Given the description of an element on the screen output the (x, y) to click on. 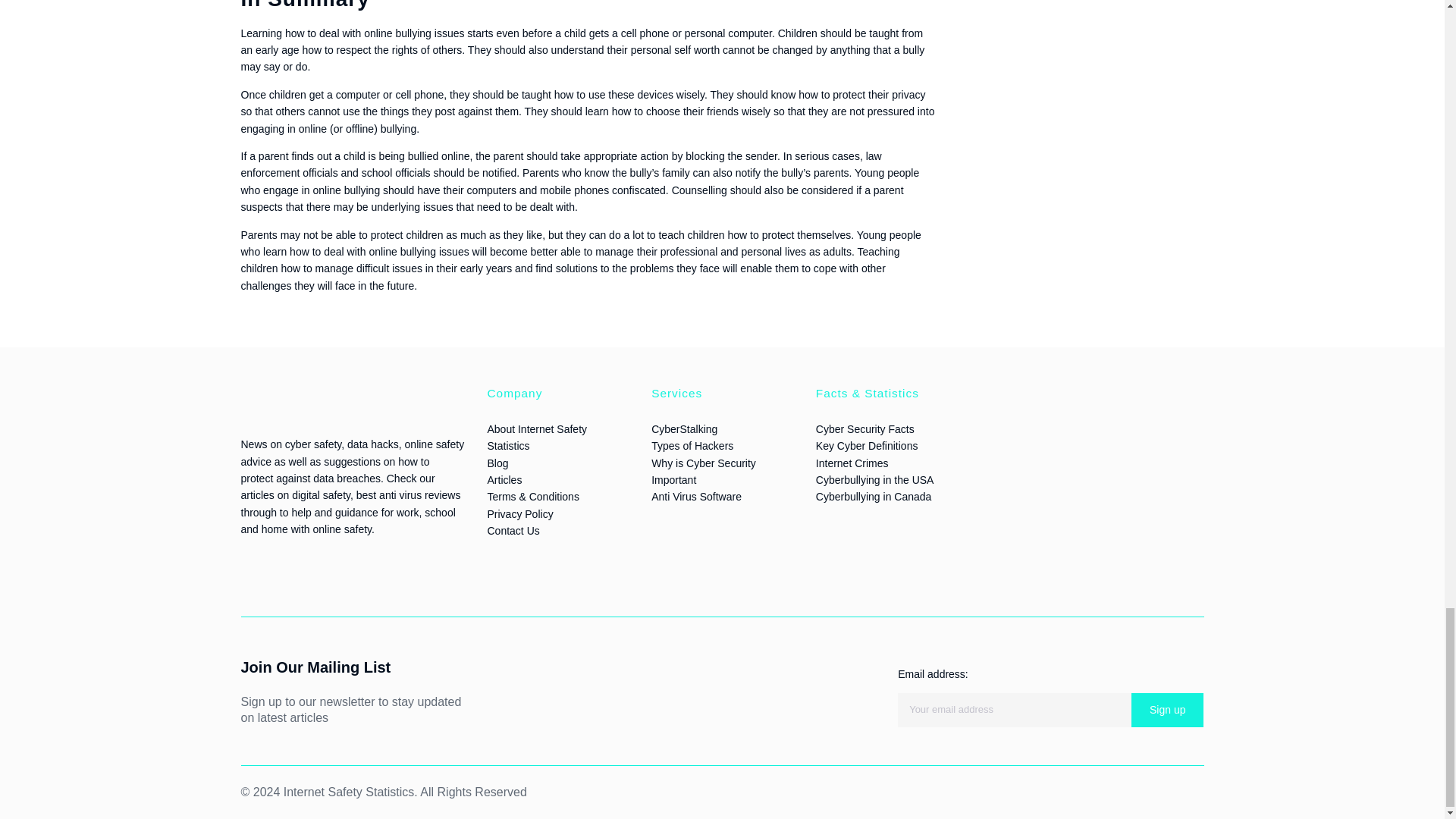
About Internet Safety Statistics (536, 437)
Articles (503, 480)
Types of Hackers (691, 445)
Blog (497, 463)
Internet Crimes (851, 463)
Cyberbullying in Canada (873, 496)
Privacy Policy (519, 513)
Sign up (1167, 709)
CyberStalking (683, 428)
Cyberbullying in the USA (874, 480)
